Given the description of an element on the screen output the (x, y) to click on. 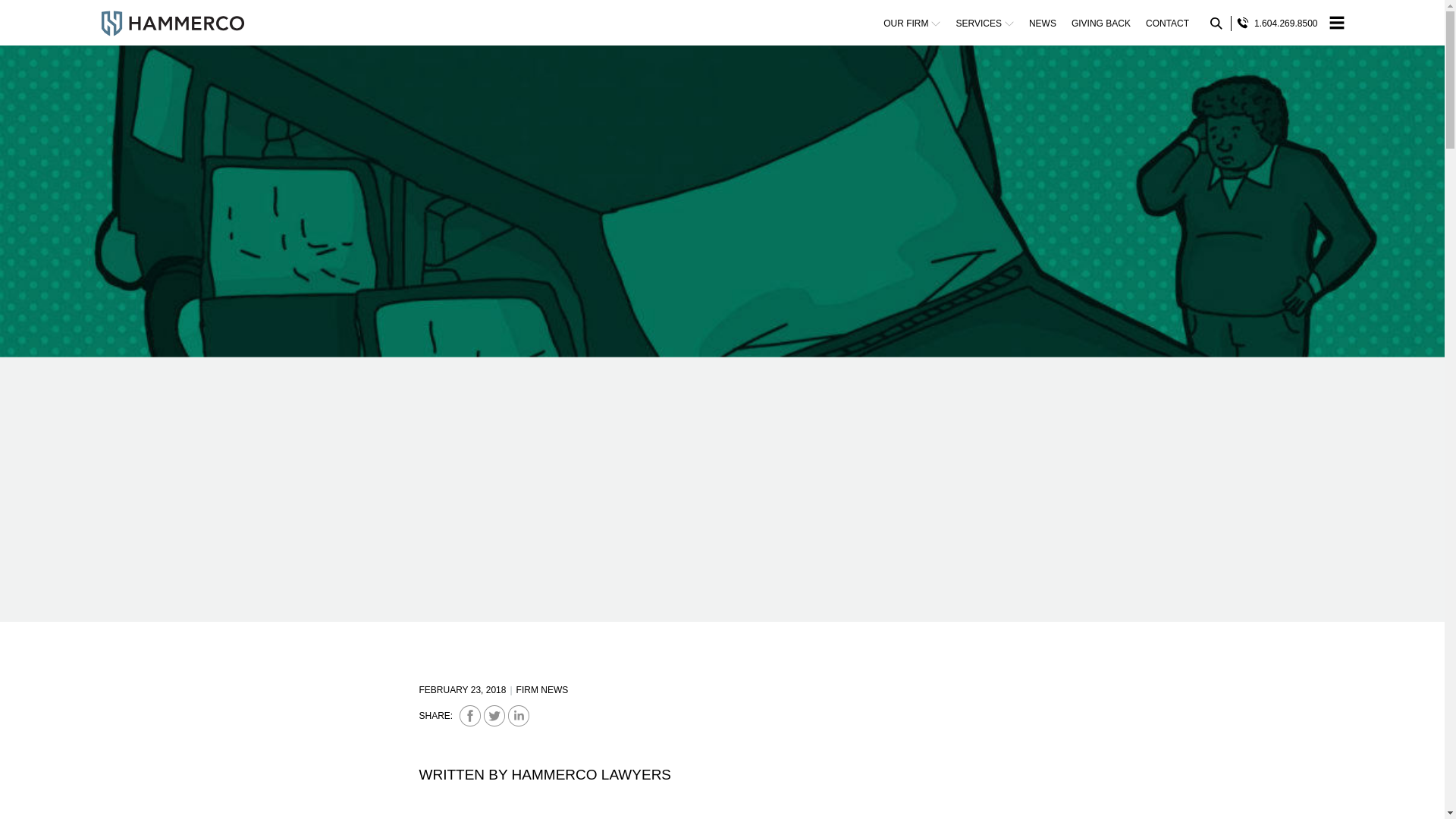
Hammerco (172, 23)
SERVICES (984, 24)
Hammerco: Powerful Legal Solutions For Clients We Believe In (172, 23)
OUR FIRM (911, 24)
